Given the description of an element on the screen output the (x, y) to click on. 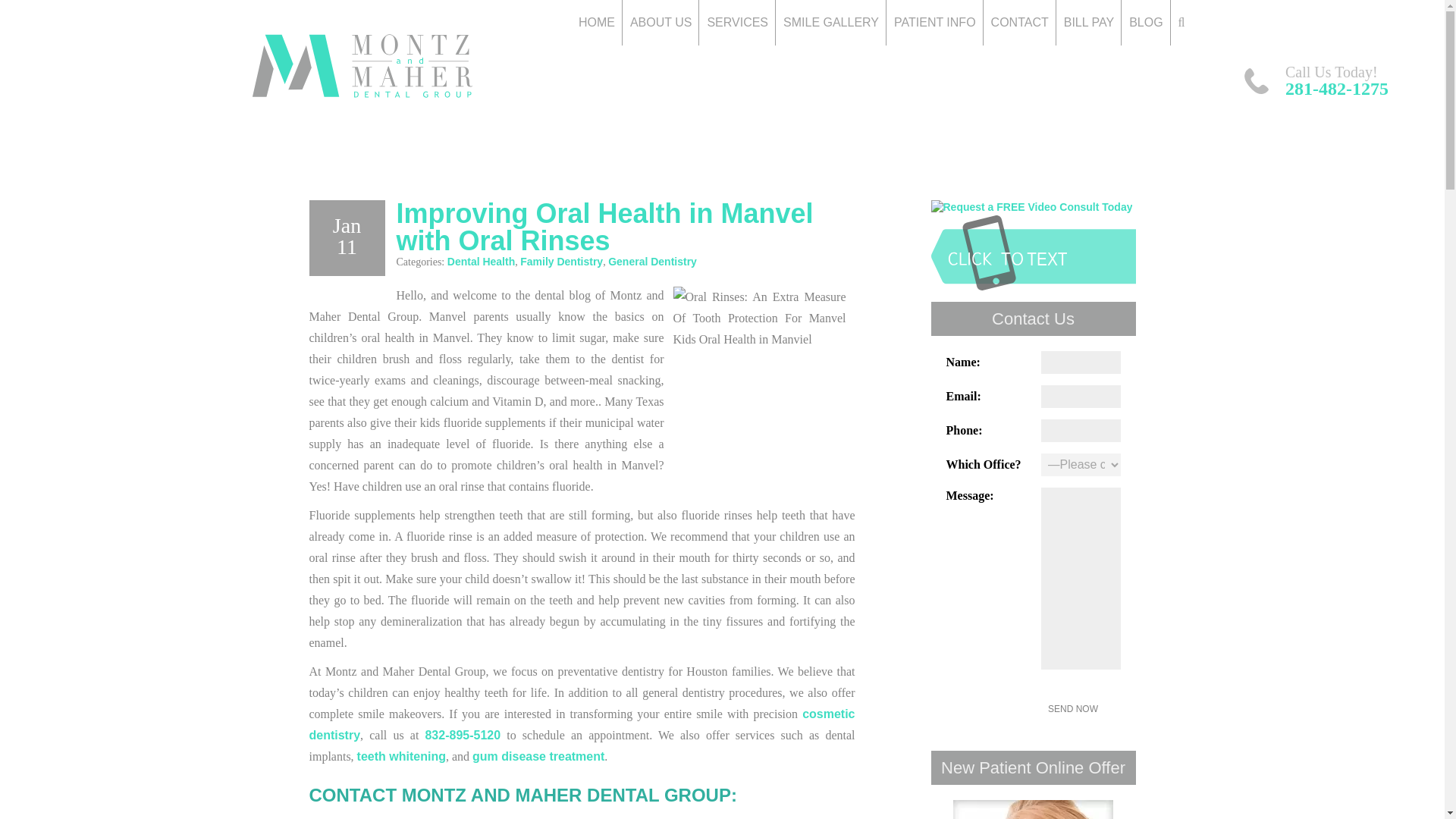
ABOUT US (661, 22)
HOME (596, 22)
SERVICES (737, 22)
Send Now (1072, 708)
